Given the description of an element on the screen output the (x, y) to click on. 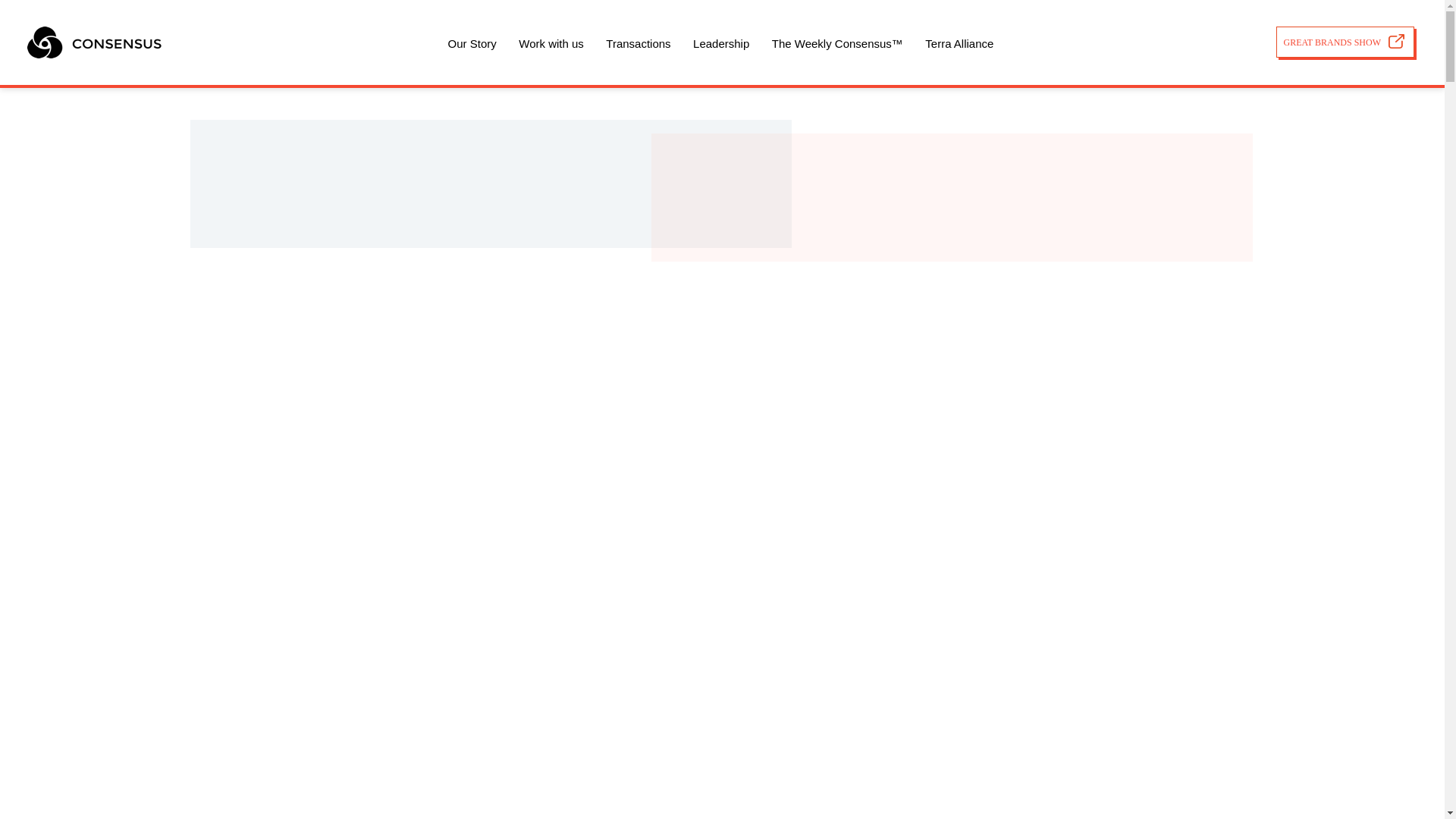
GREAT BRANDS SHOW (1344, 41)
Transactions (637, 42)
Our Story (472, 42)
Leadership (721, 42)
Work with us (550, 42)
Terra Alliance (958, 42)
